Given the description of an element on the screen output the (x, y) to click on. 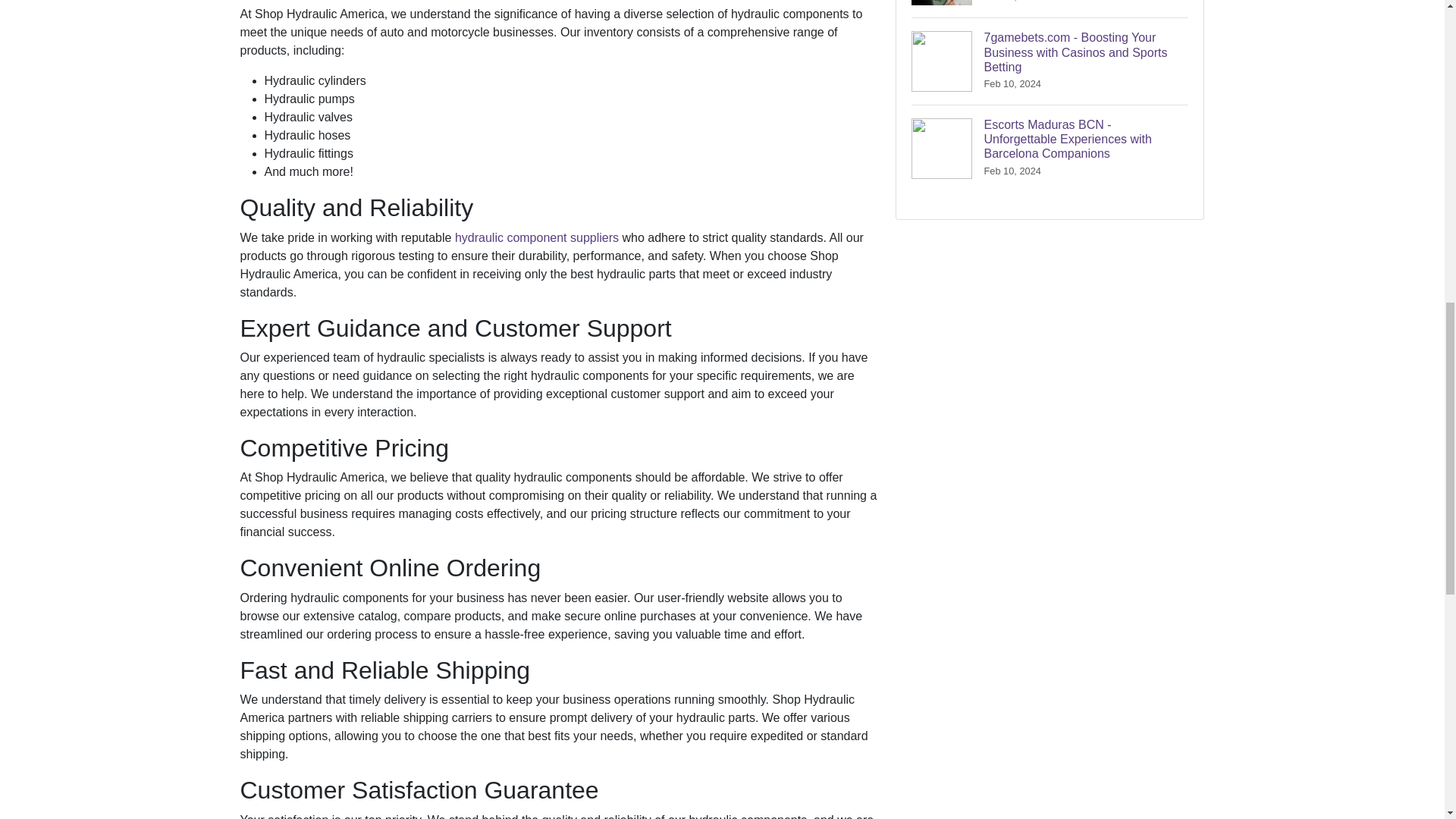
hydraulic component suppliers (536, 237)
